Given the description of an element on the screen output the (x, y) to click on. 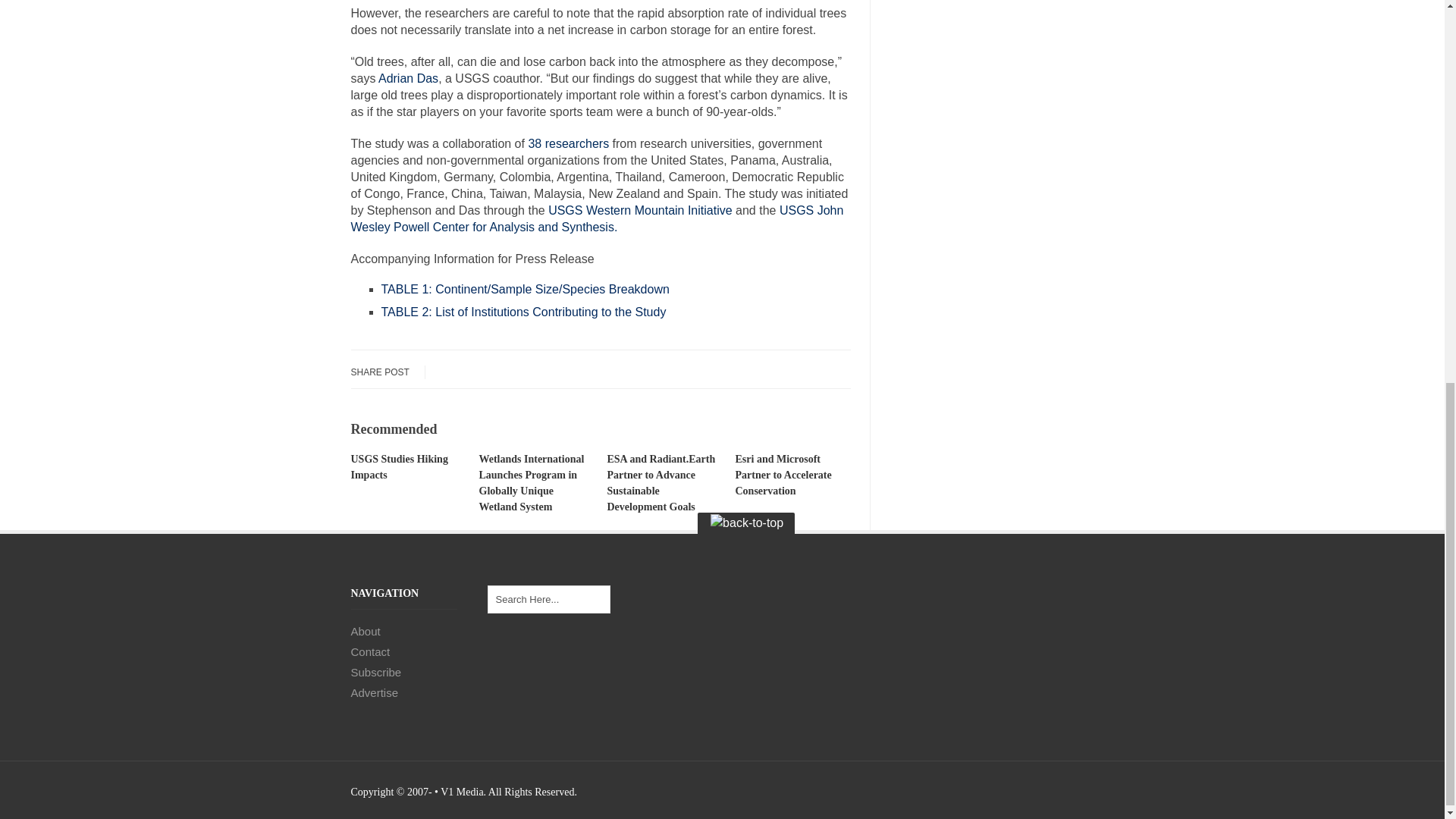
Search Here... (548, 599)
USGS Studies Hiking Impacts (398, 466)
